Given the description of an element on the screen output the (x, y) to click on. 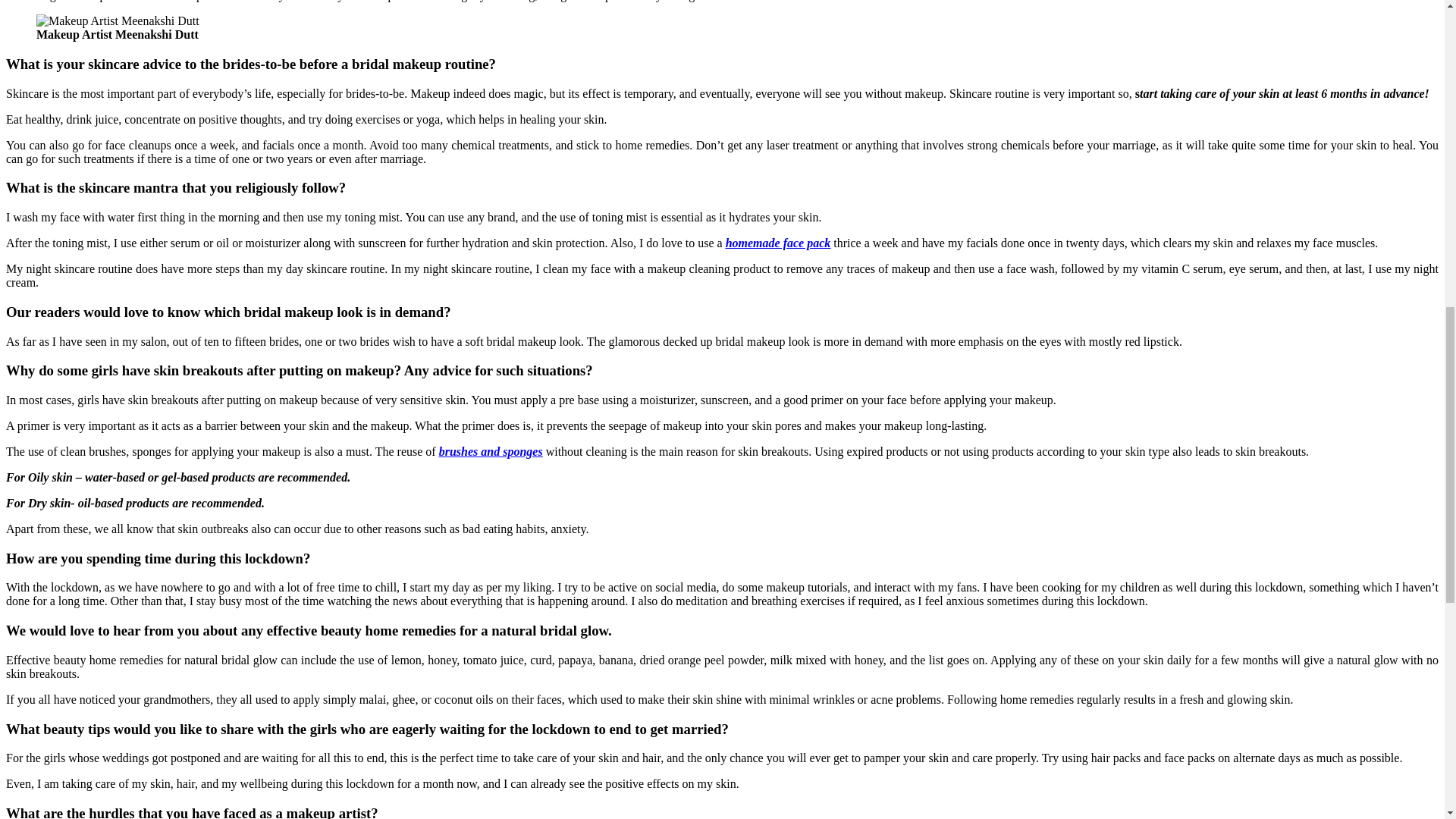
homemade face pack (778, 242)
brushes and sponges (491, 451)
